Given the description of an element on the screen output the (x, y) to click on. 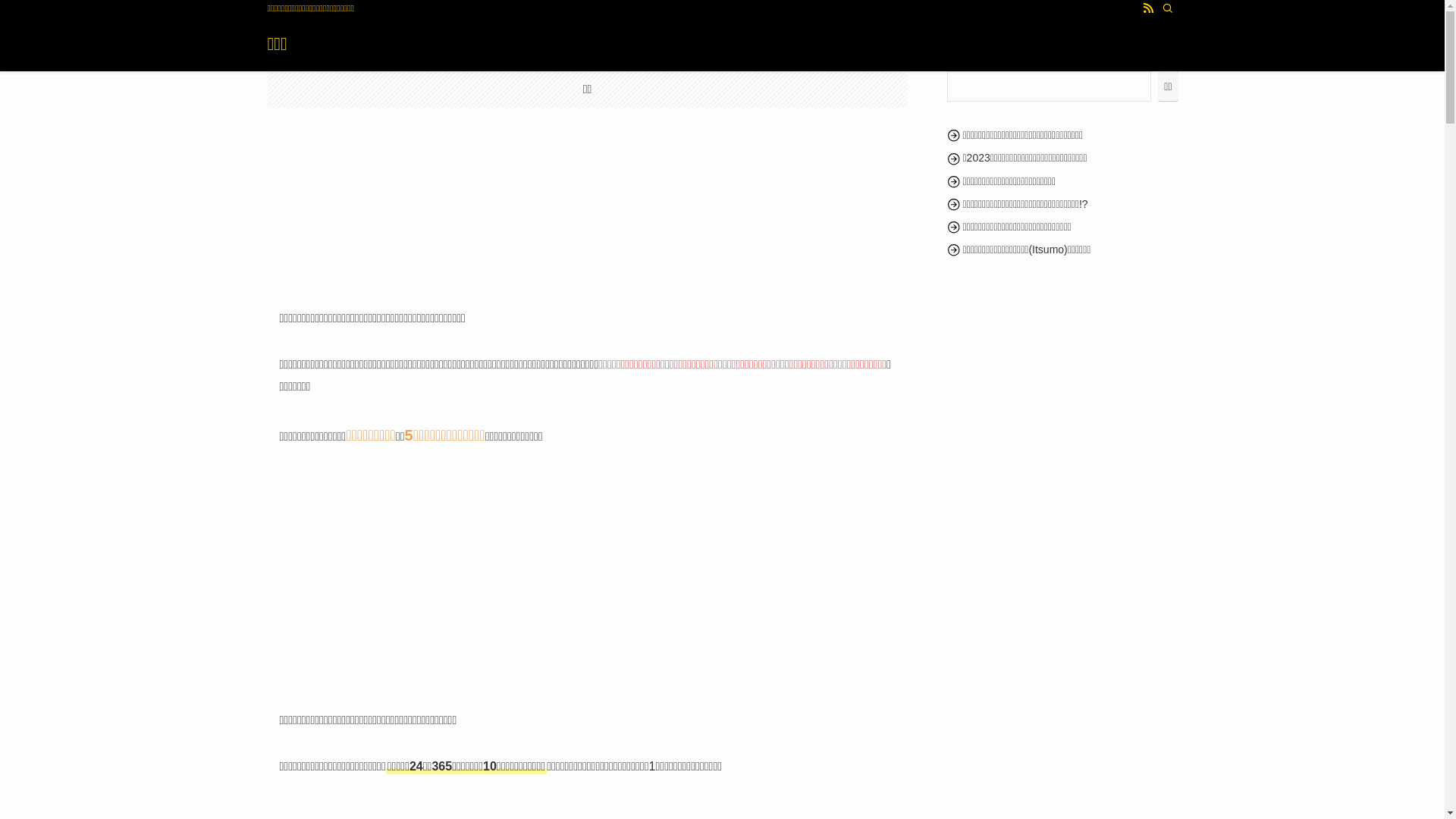
Advertisement Element type: hover (586, 579)
search Element type: text (921, 421)
Advertisement Element type: hover (586, 183)
